Given the description of an element on the screen output the (x, y) to click on. 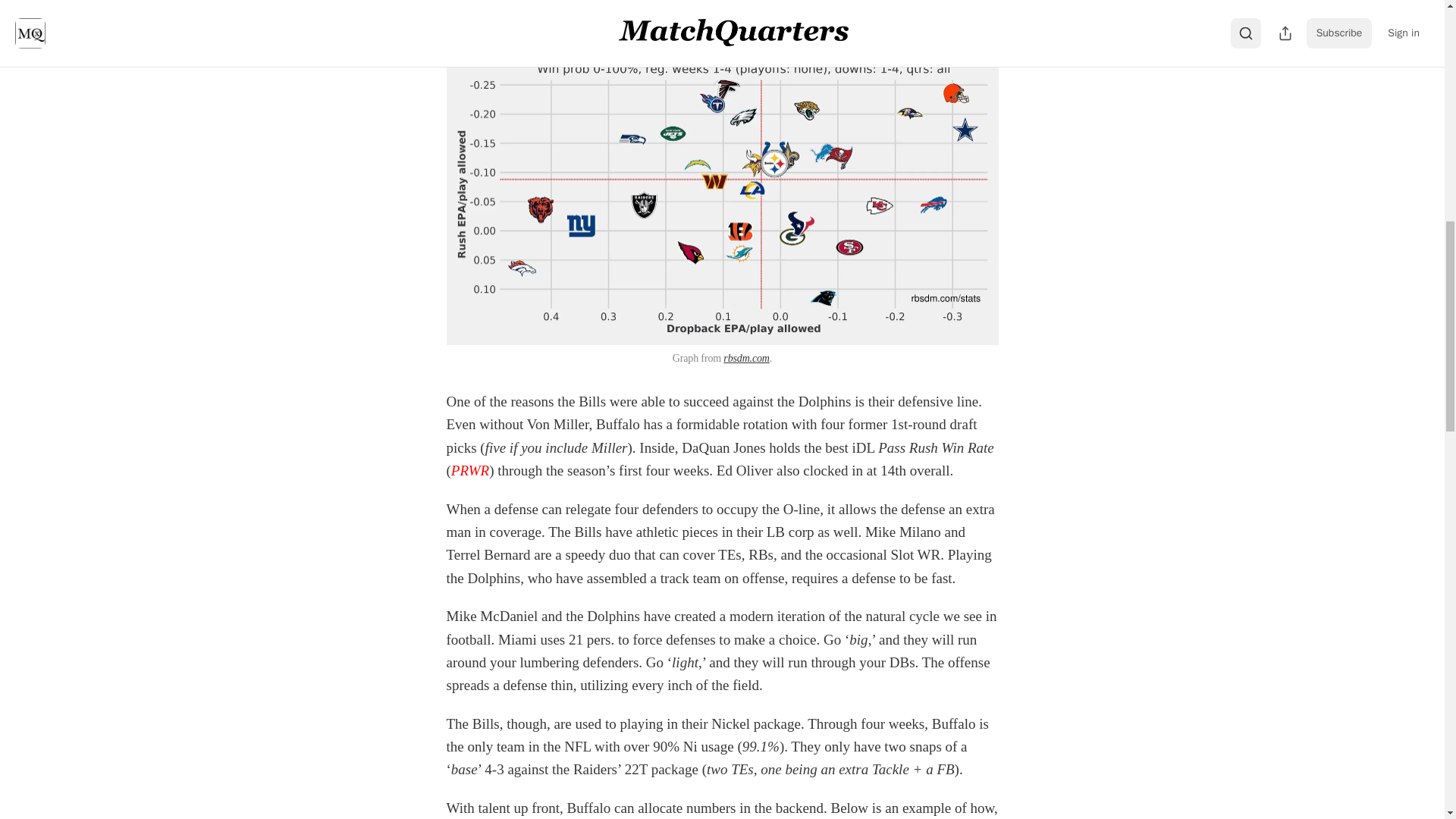
rbsdm.com (745, 357)
PRWR (470, 470)
